Given the description of an element on the screen output the (x, y) to click on. 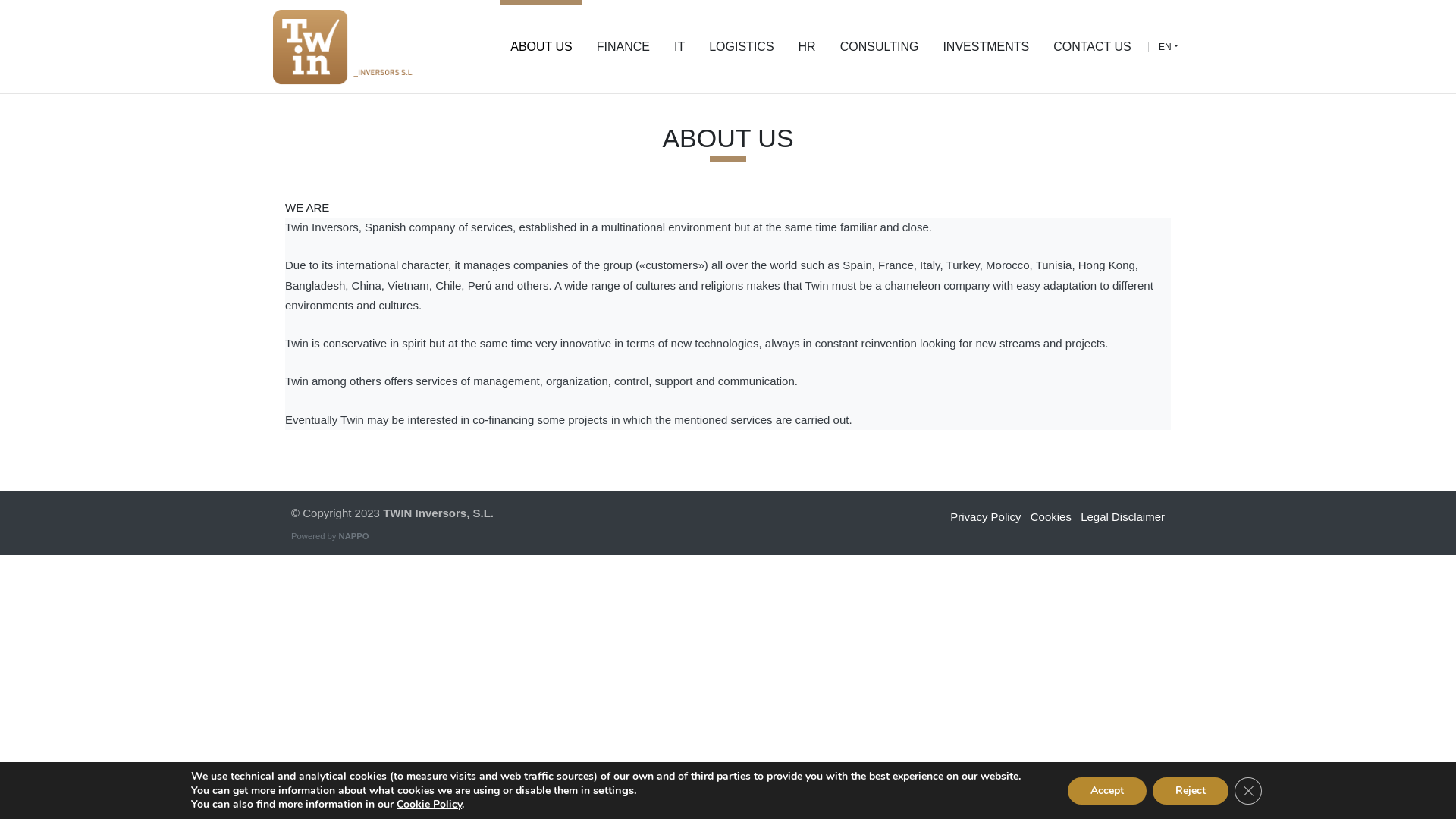
ABOUT US Element type: text (541, 47)
HR Element type: text (807, 47)
FINANCE Element type: text (623, 47)
Close GDPR Cookie Banner Element type: text (1247, 789)
Cookies Element type: text (1050, 516)
EN Element type: text (1168, 47)
Legal Disclaimer Element type: text (1122, 516)
NAPPO Element type: text (353, 535)
Cookie Policy Element type: text (428, 804)
CONTACT US Element type: text (1092, 47)
Reject Element type: text (1190, 789)
IT Element type: text (679, 47)
Accept Element type: text (1106, 789)
CONSULTING Element type: text (879, 47)
Privacy Policy Element type: text (985, 516)
settings Element type: text (613, 790)
INVESTMENTS Element type: text (985, 47)
LOGISTICS Element type: text (740, 47)
